Given the description of an element on the screen output the (x, y) to click on. 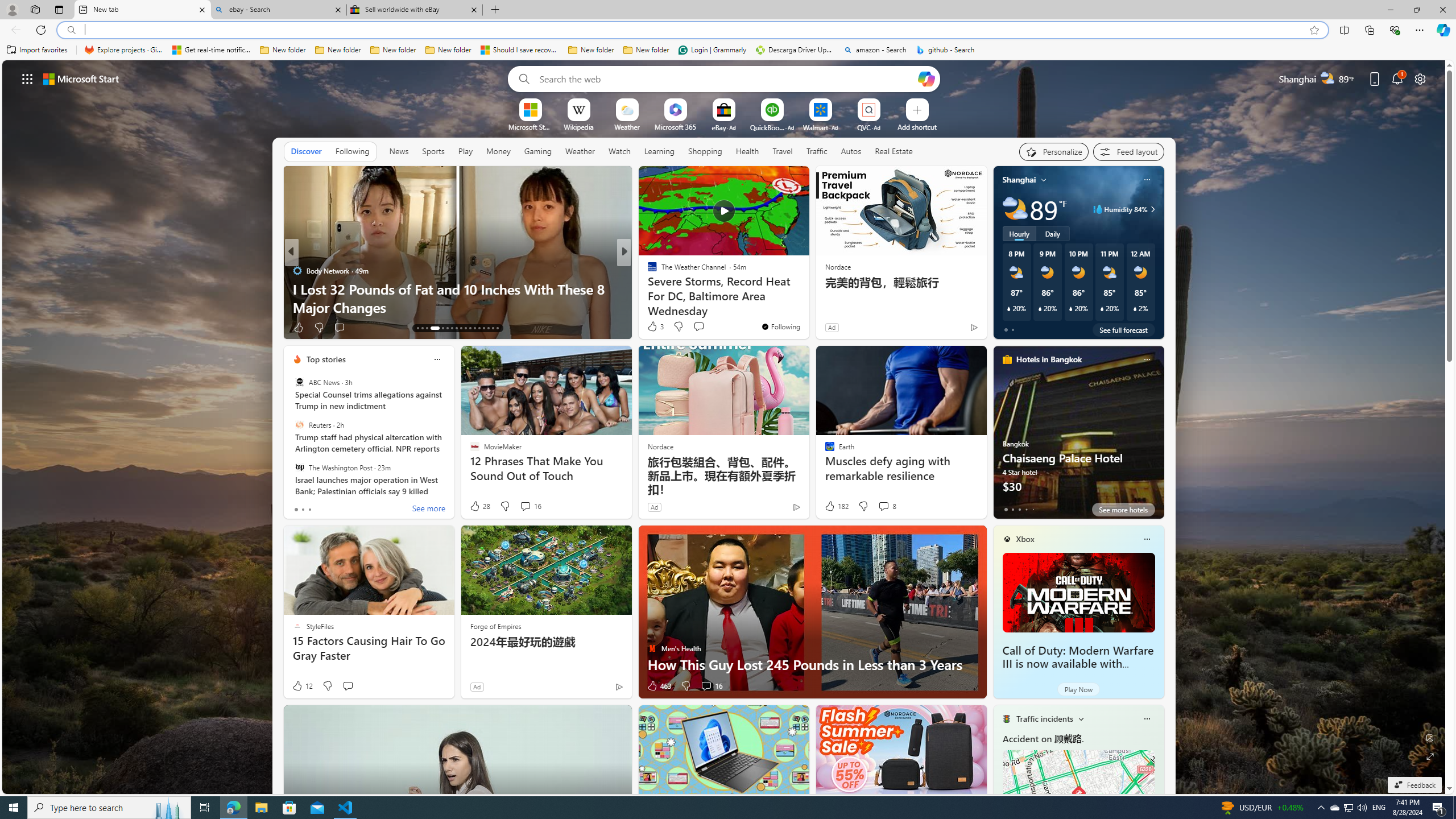
Following (352, 151)
Import favorites (36, 49)
AutomationID: tab-28 (492, 328)
Expand background (1430, 756)
View comments 167 Comment (709, 327)
Simply More Time (647, 288)
AutomationID: tab-22 (465, 328)
Autos (850, 151)
Athletes That Died Far Too Young (807, 307)
Traffic (816, 151)
Weather (580, 151)
Traffic (816, 151)
